Given the description of an element on the screen output the (x, y) to click on. 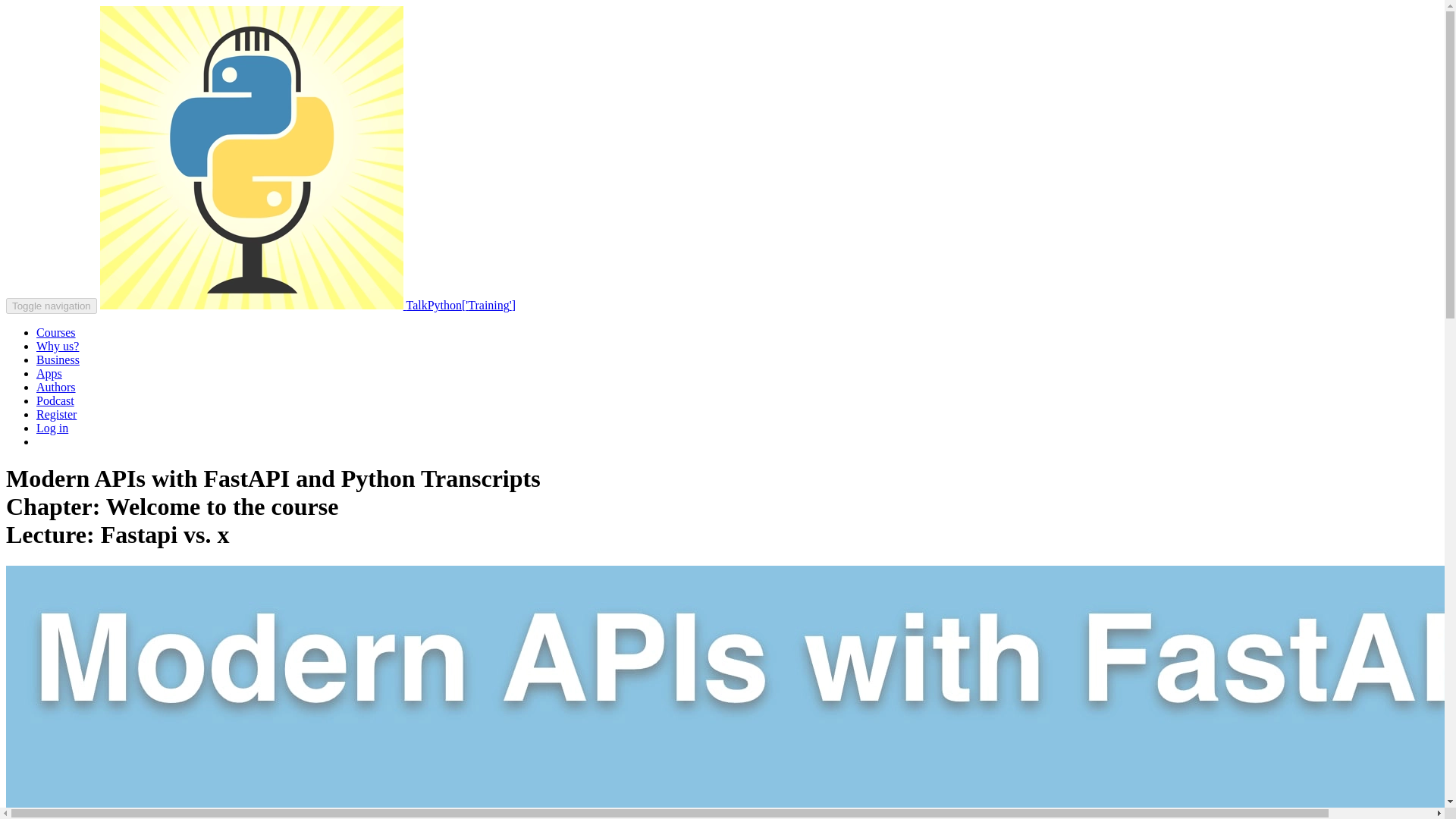
Podcast (55, 400)
Find your next Python course (55, 332)
Why us? (57, 345)
Business (58, 359)
Courses (55, 332)
Listen to the Talk Python To Me podcast (55, 400)
Register (56, 413)
See our special pricing for enterprise and corporate teams (58, 359)
Log in (52, 427)
Create a free account (56, 413)
Toggle navigation (51, 305)
Authors (55, 386)
Apps (49, 373)
